Given the description of an element on the screen output the (x, y) to click on. 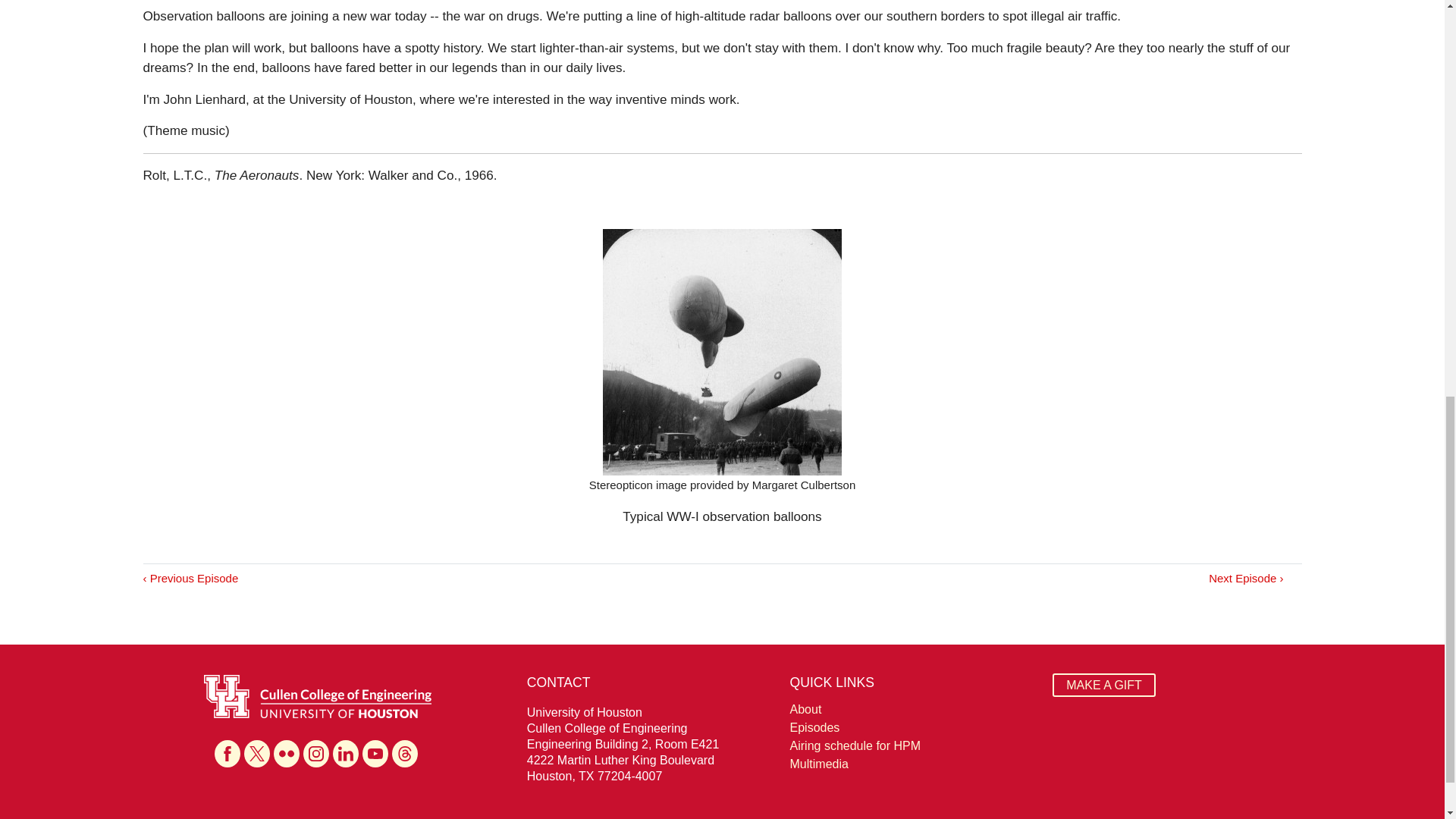
About (913, 710)
Airing schedule for HPM (913, 746)
Multimedia (913, 764)
Episodes (913, 728)
